Given the description of an element on the screen output the (x, y) to click on. 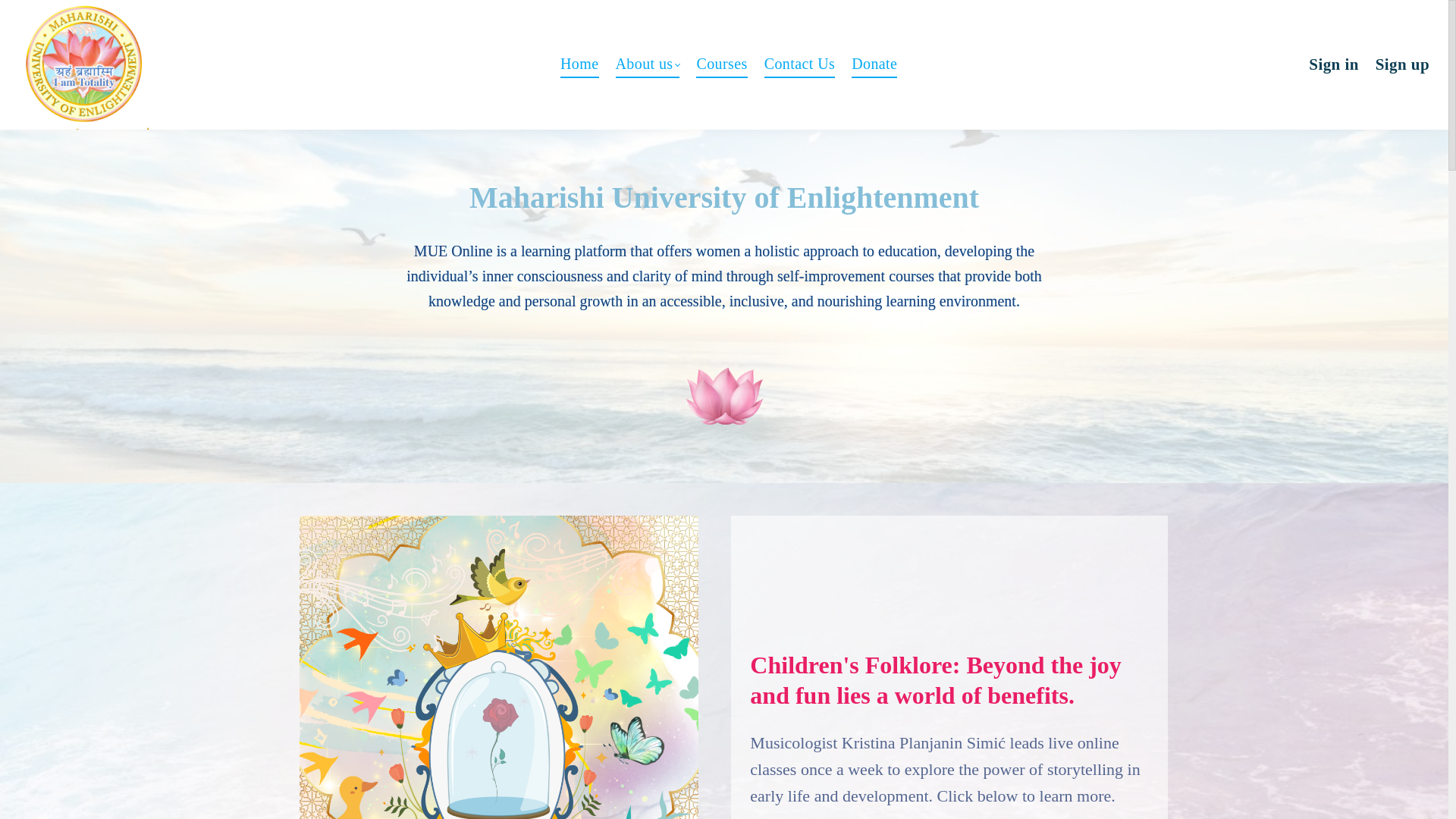
Sign in (1333, 64)
About us (647, 64)
Courses (720, 64)
Home (579, 64)
Donate (873, 64)
Sign up (1402, 64)
Contact Us (799, 64)
